Given the description of an element on the screen output the (x, y) to click on. 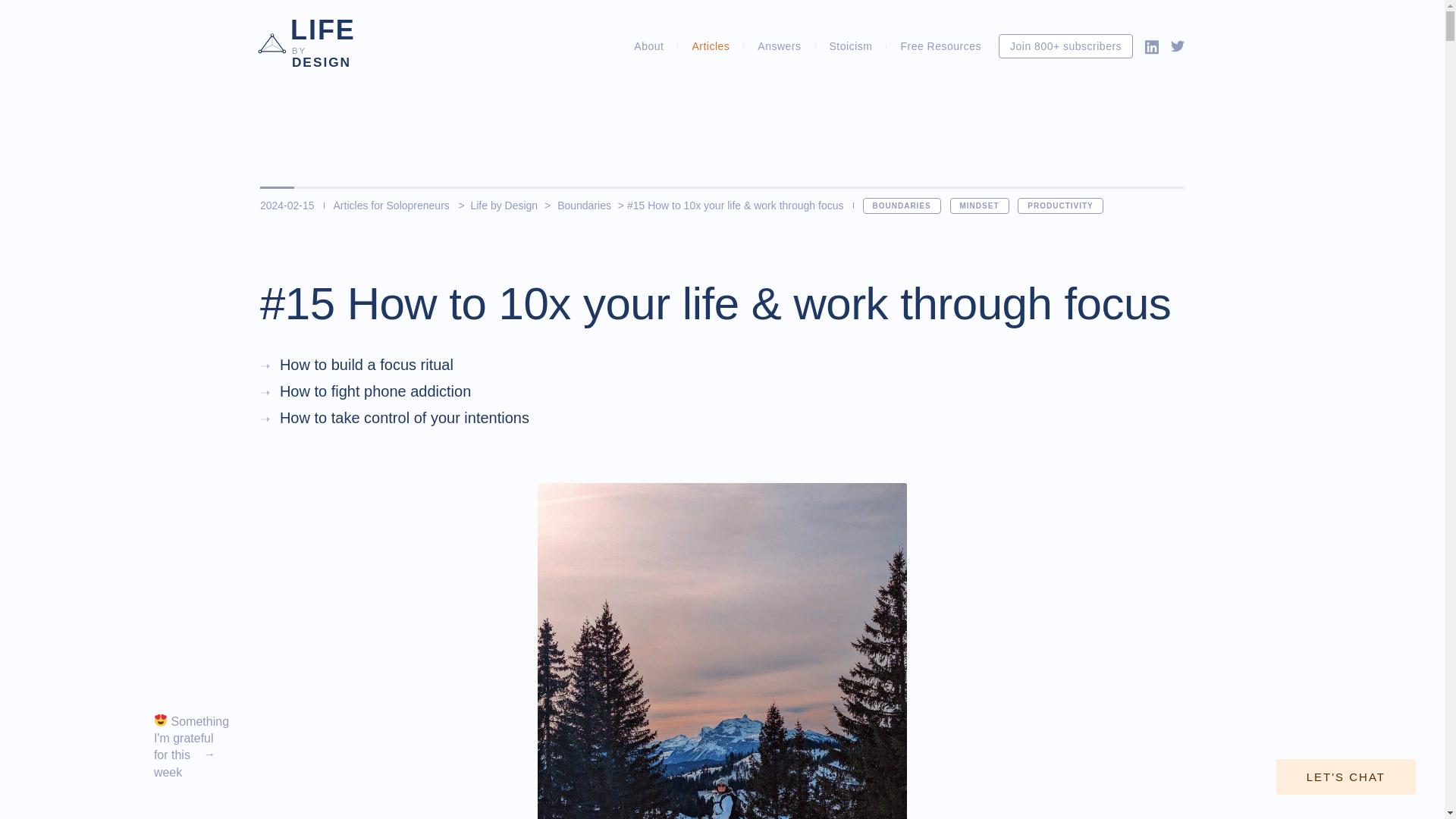
Stoicism (850, 46)
Life by Design (505, 205)
Free Resources (940, 46)
BOUNDARIES (901, 205)
Answers (778, 46)
PRODUCTIVITY (1059, 205)
Boundaries (322, 43)
Articles (583, 205)
LET'S CHAT (710, 46)
About (1345, 776)
MINDSET (648, 46)
